Given the description of an element on the screen output the (x, y) to click on. 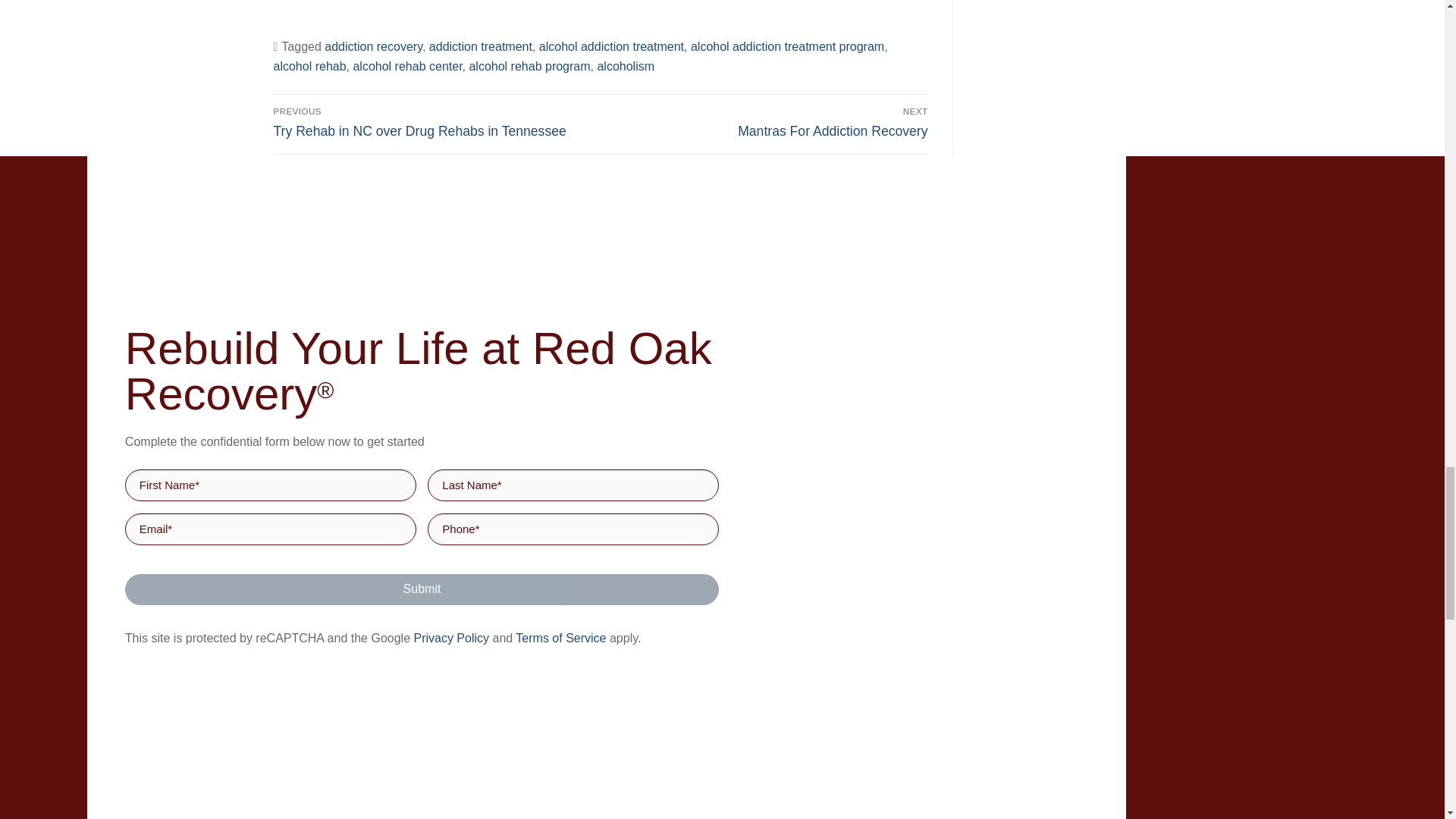
Submit (422, 590)
